Given the description of an element on the screen output the (x, y) to click on. 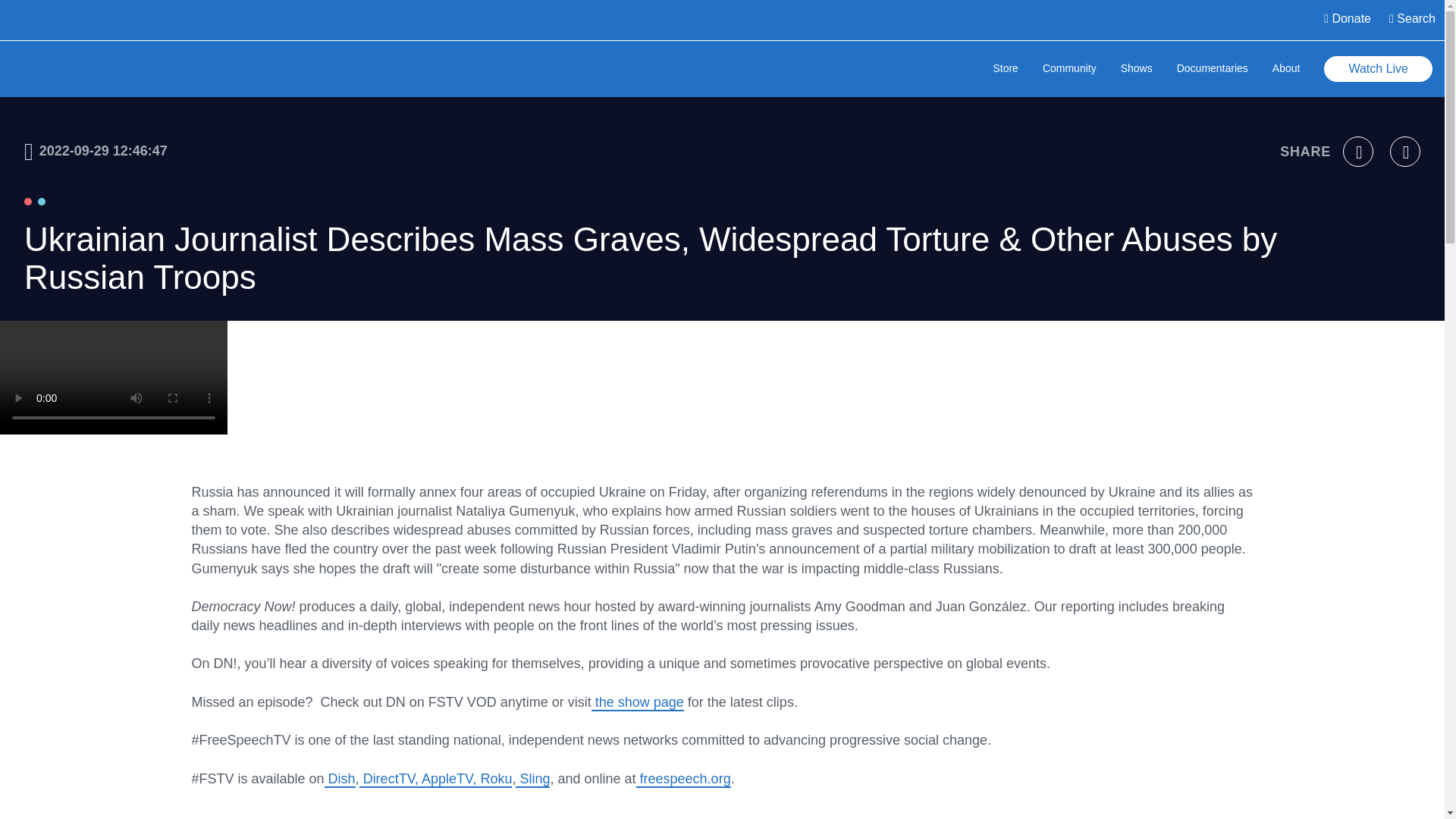
Search (1412, 20)
Watch Live (1377, 68)
Community (1069, 69)
Documentaries (1211, 69)
Donate (1347, 20)
